Given the description of an element on the screen output the (x, y) to click on. 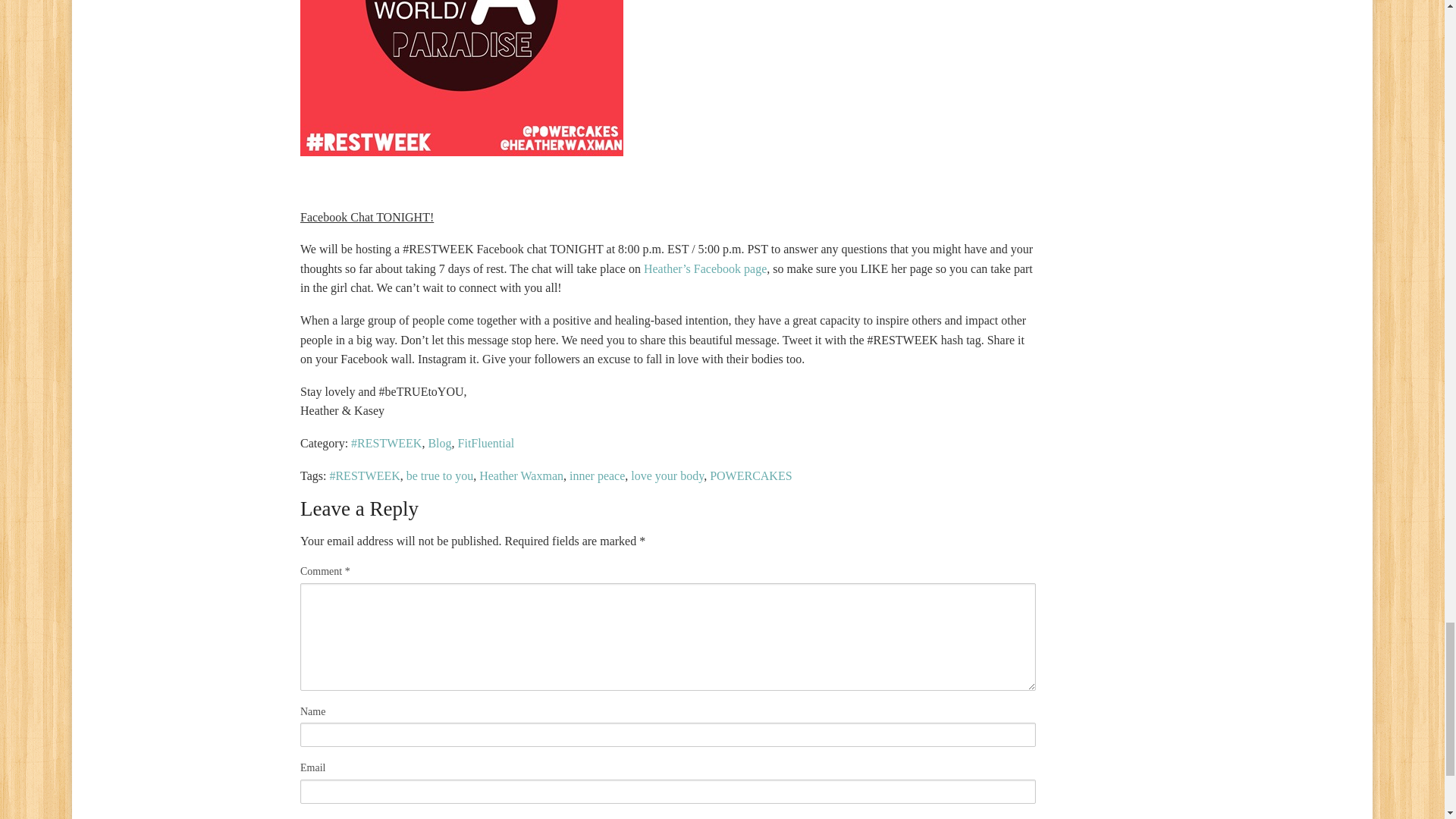
Heather Waxman (521, 475)
POWERCAKES (751, 475)
photo.JPG3 (461, 78)
love your body (666, 475)
FitFluential (486, 442)
be true to you (439, 475)
inner peace (596, 475)
Blog (439, 442)
